Given the description of an element on the screen output the (x, y) to click on. 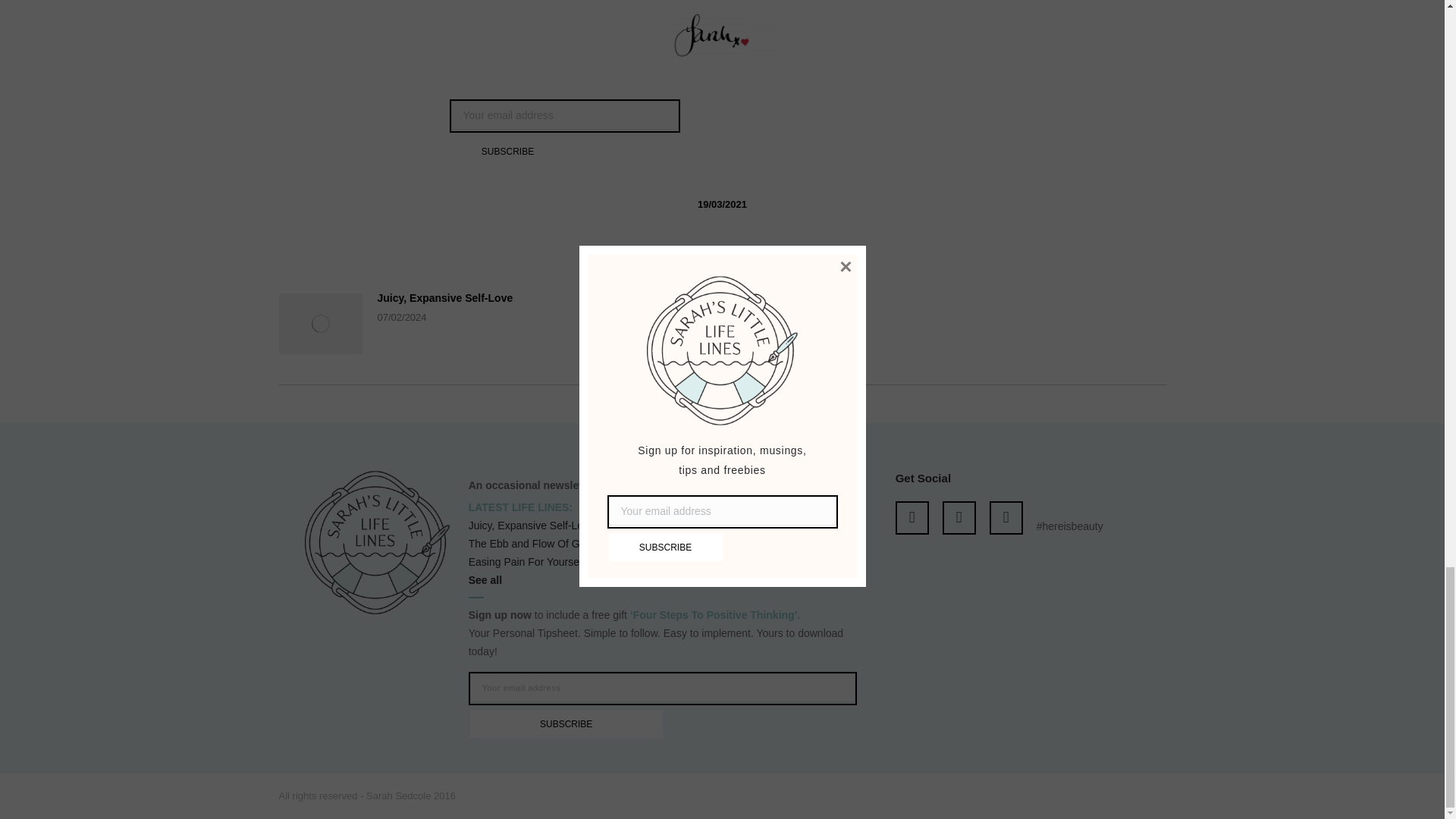
Subscribe (506, 151)
Subscribe (506, 151)
Subscribe (566, 723)
Juicy, Expansive Self-Love (445, 297)
7:31 pm (721, 204)
